Given the description of an element on the screen output the (x, y) to click on. 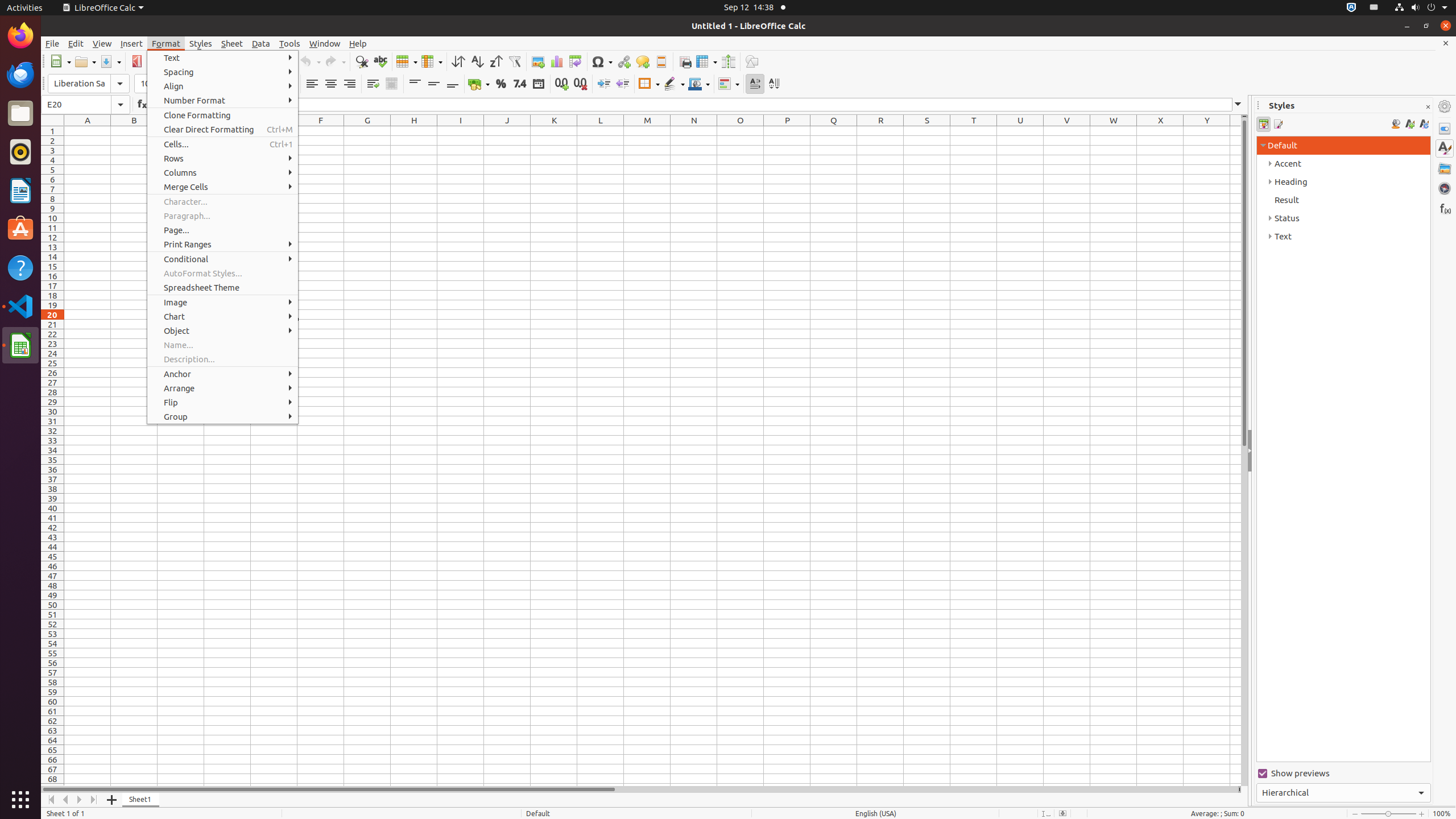
LibreOffice Writer Element type: push-button (20, 190)
Align Element type: menu (222, 86)
Description... Element type: menu-item (222, 359)
Move To Home Element type: push-button (51, 799)
Sort Ascending Element type: push-button (476, 61)
